Given the description of an element on the screen output the (x, y) to click on. 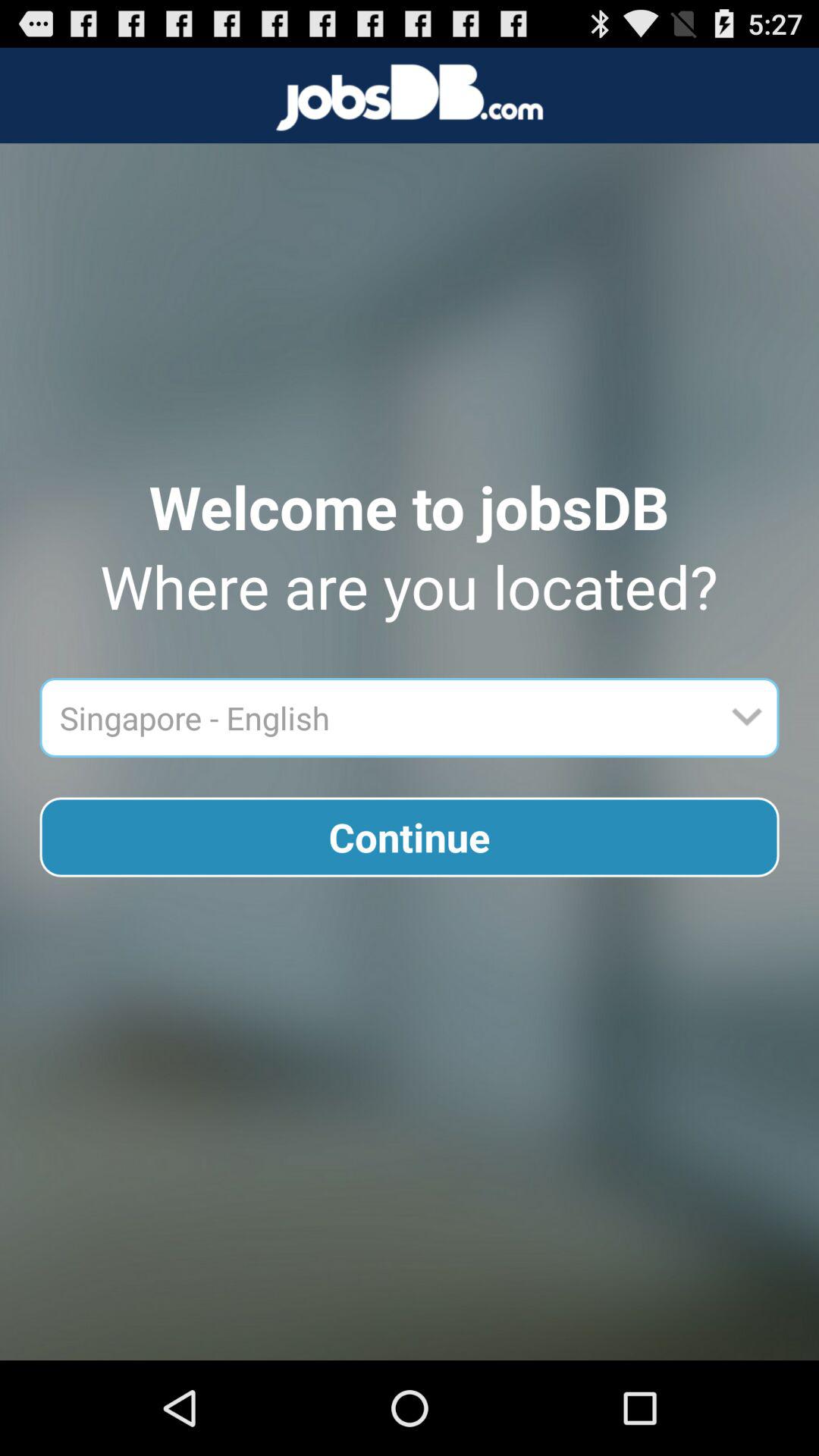
turn off item below where are you icon (383, 717)
